Given the description of an element on the screen output the (x, y) to click on. 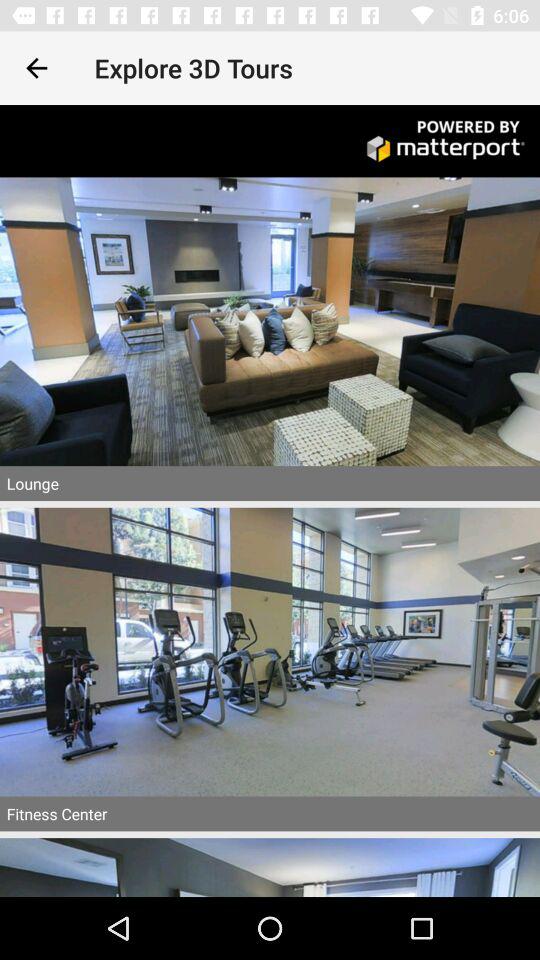
go back (36, 68)
